Given the description of an element on the screen output the (x, y) to click on. 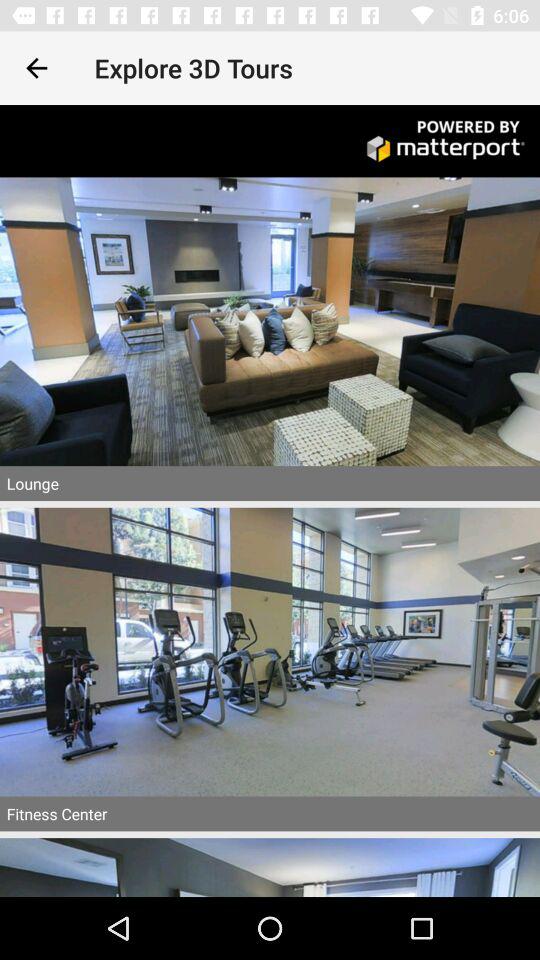
go back (36, 68)
